Given the description of an element on the screen output the (x, y) to click on. 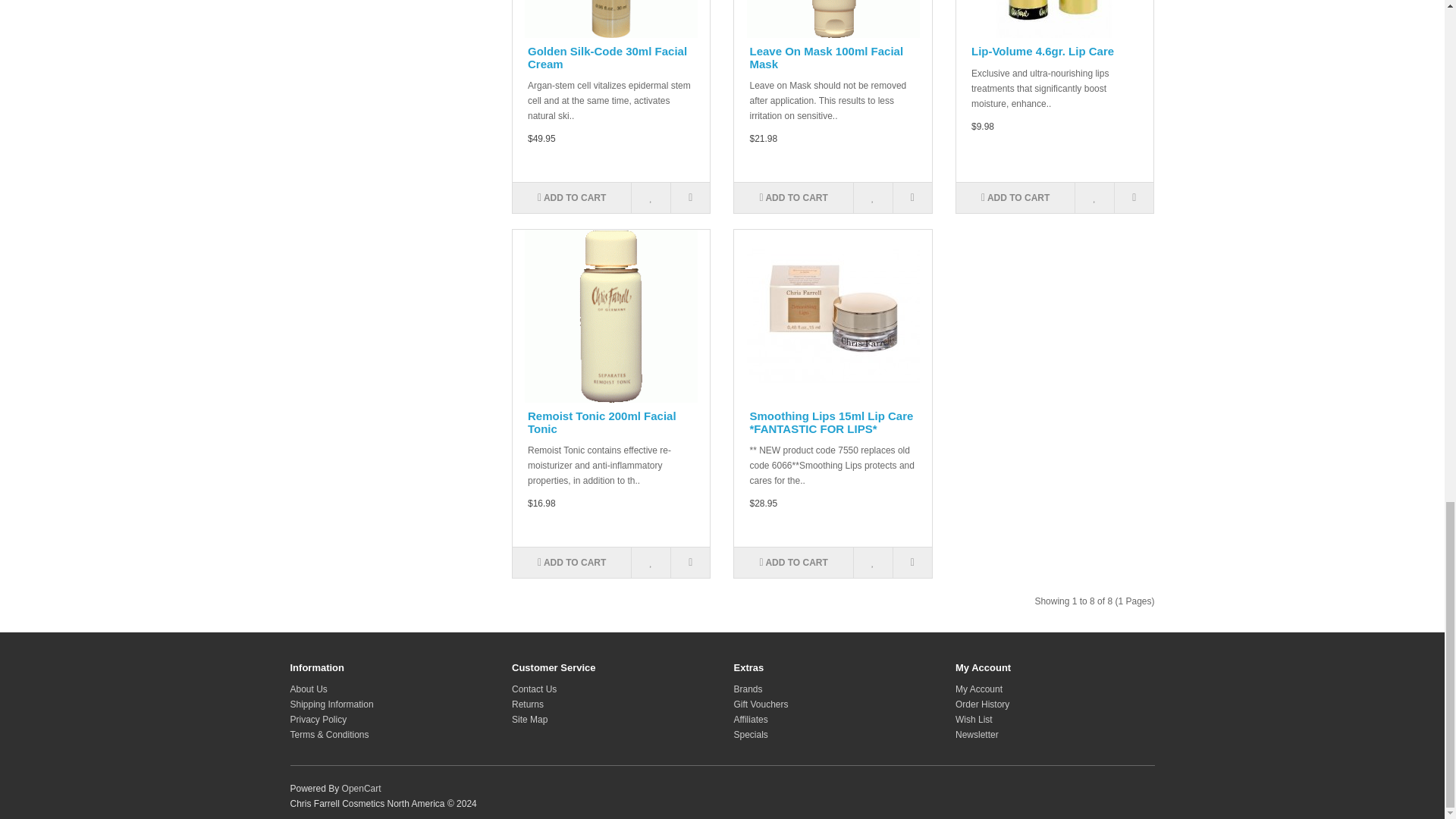
Golden Silk-Code 30ml Facial Cream  (610, 18)
